Given the description of an element on the screen output the (x, y) to click on. 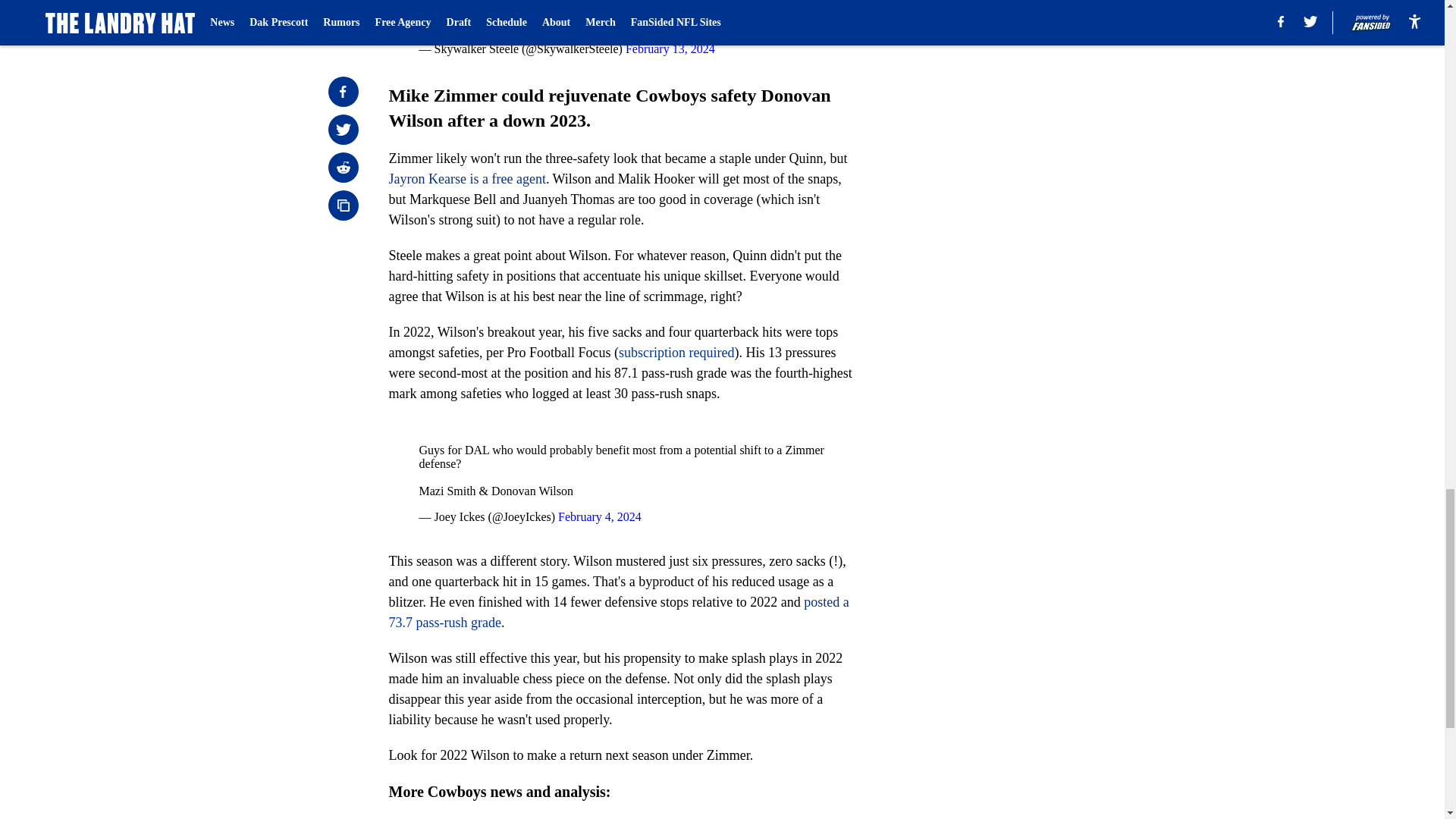
Jayron Kearse is a free agent (466, 178)
February 13, 2024 (670, 48)
February 4, 2024 (599, 516)
posted a 73.7 pass-rush grade (618, 611)
subscription required (675, 352)
